Given the description of an element on the screen output the (x, y) to click on. 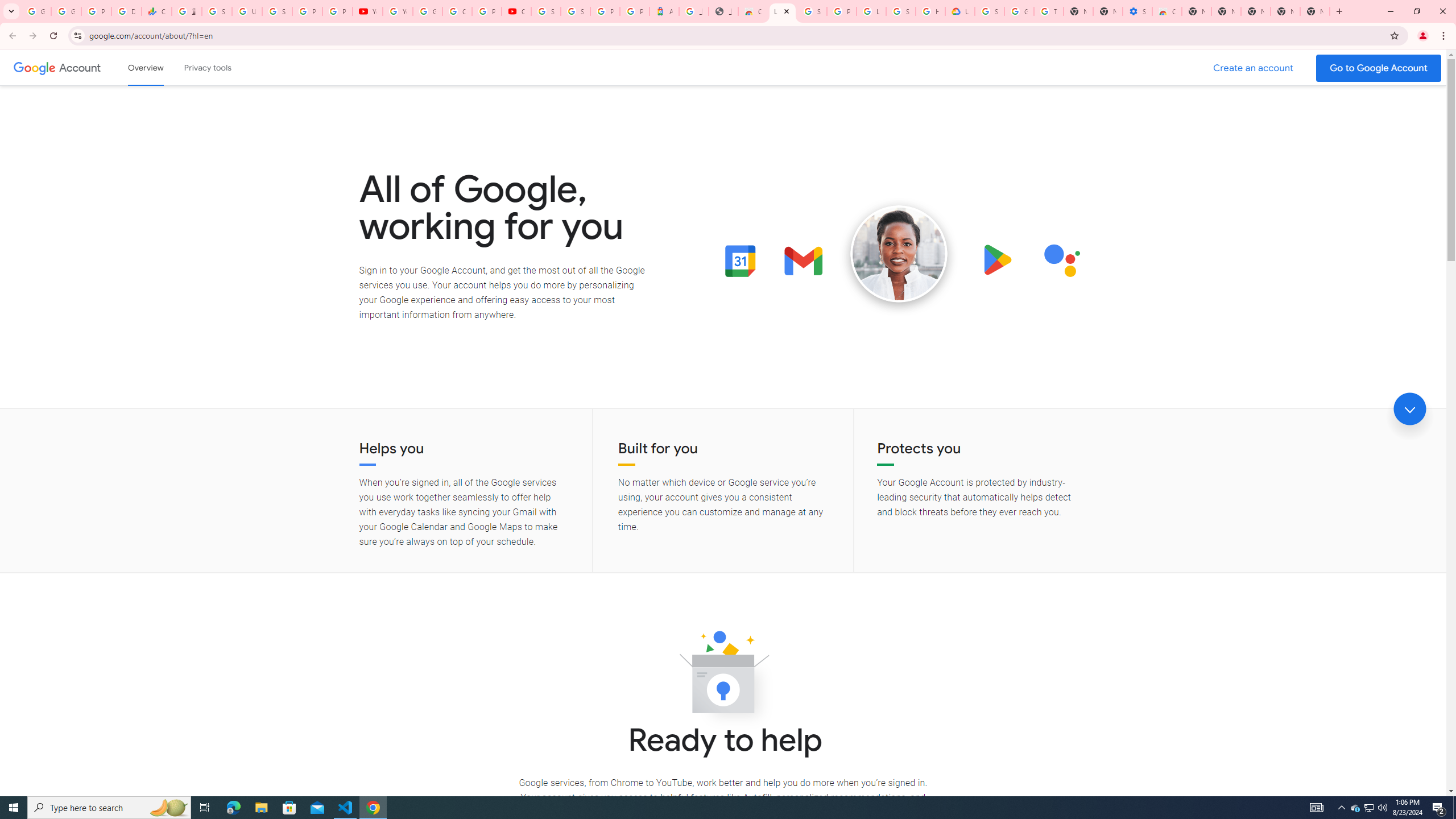
YouTube (397, 11)
Settings - Accessibility (1137, 11)
Privacy Checkup (337, 11)
Google Account (80, 67)
Turn cookies on or off - Computer - Google Account Help (1048, 11)
Currencies - Google Finance (156, 11)
Sign in - Google Accounts (277, 11)
Sign in - Google Accounts (575, 11)
Chrome Web Store - Accessibility extensions (1166, 11)
